Given the description of an element on the screen output the (x, y) to click on. 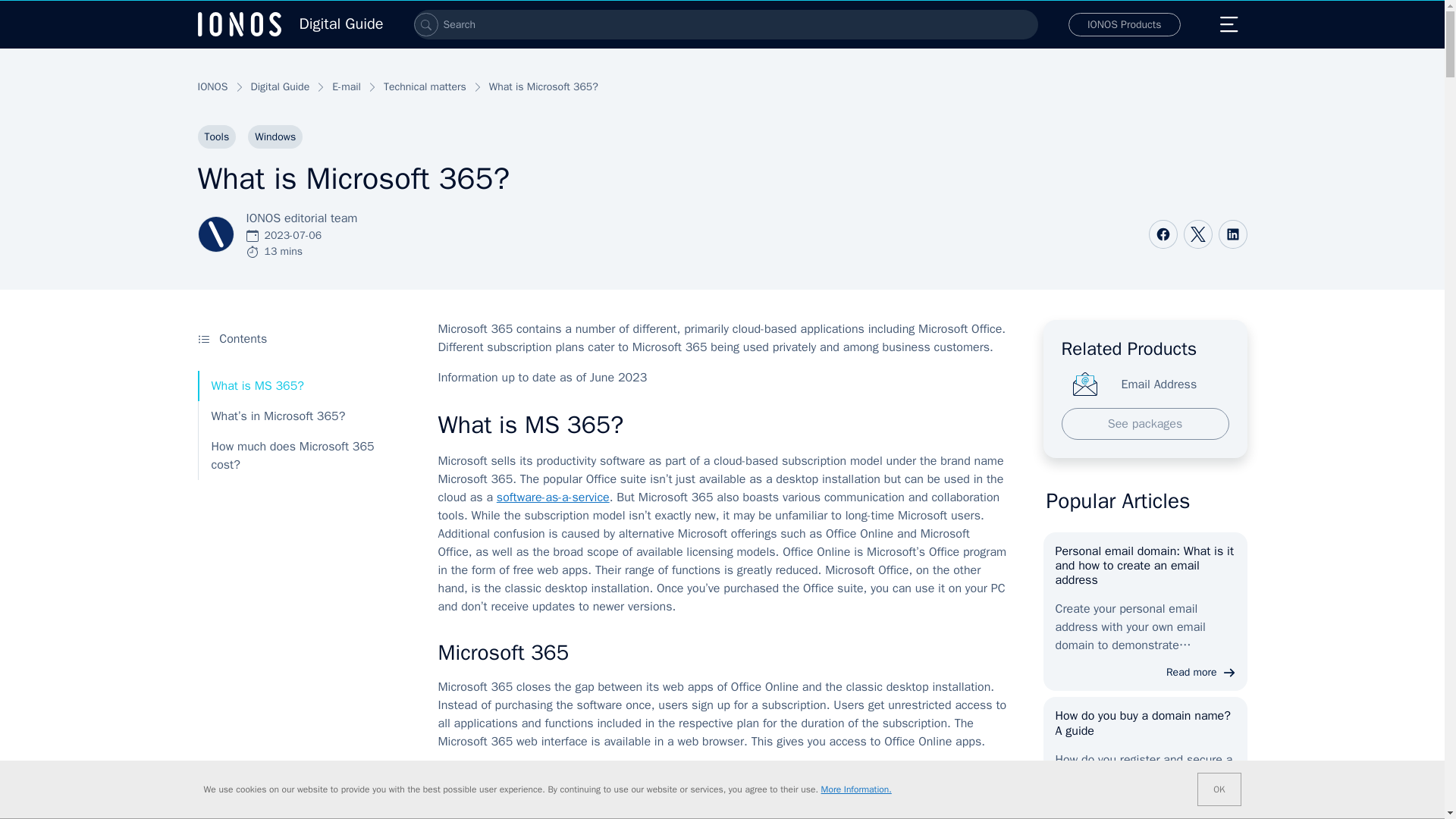
IONOS Products (1124, 24)
Digital Guide (289, 23)
Digital Guide (289, 23)
Search (425, 24)
